Given the description of an element on the screen output the (x, y) to click on. 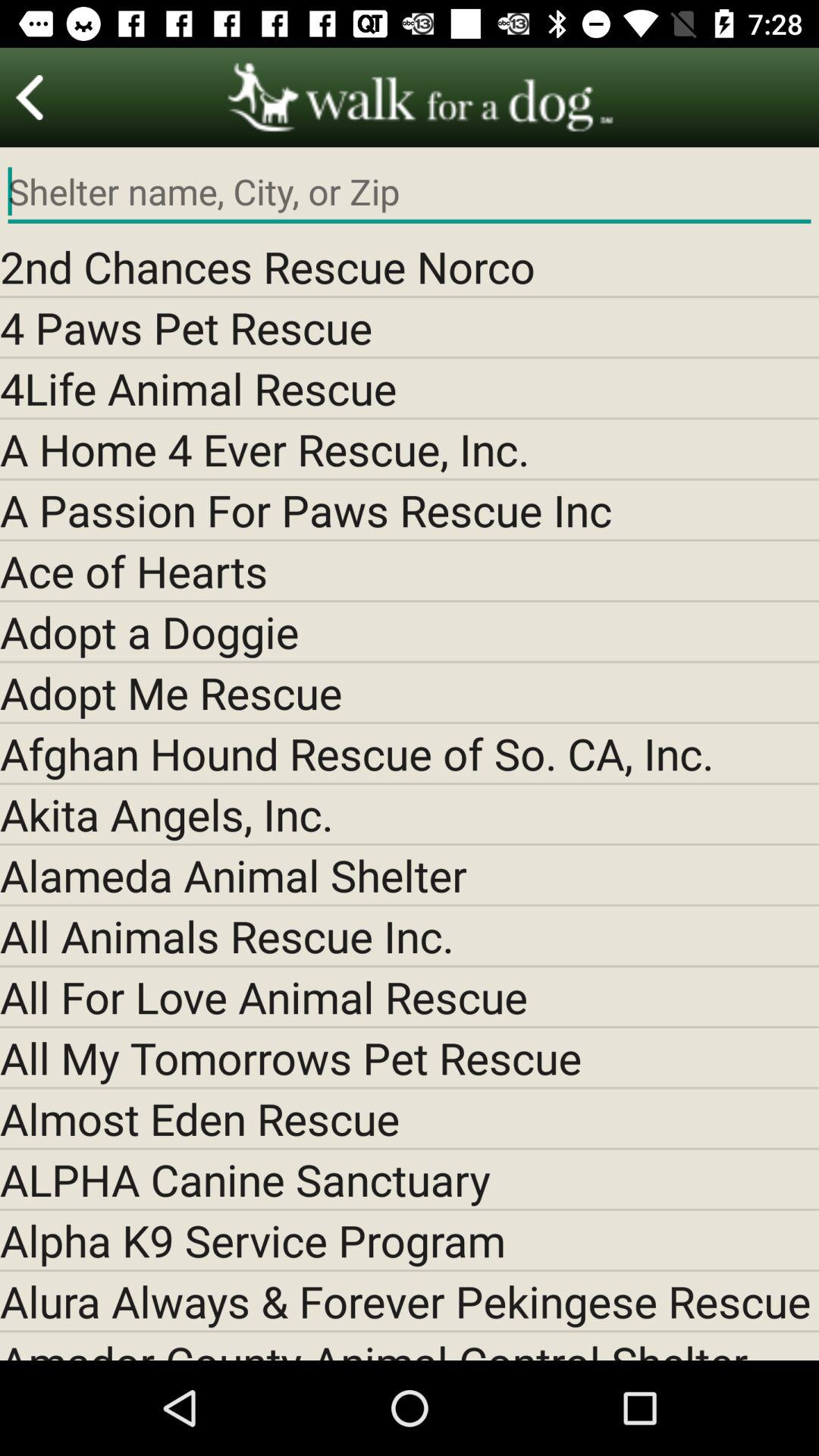
search (409, 192)
